Given the description of an element on the screen output the (x, y) to click on. 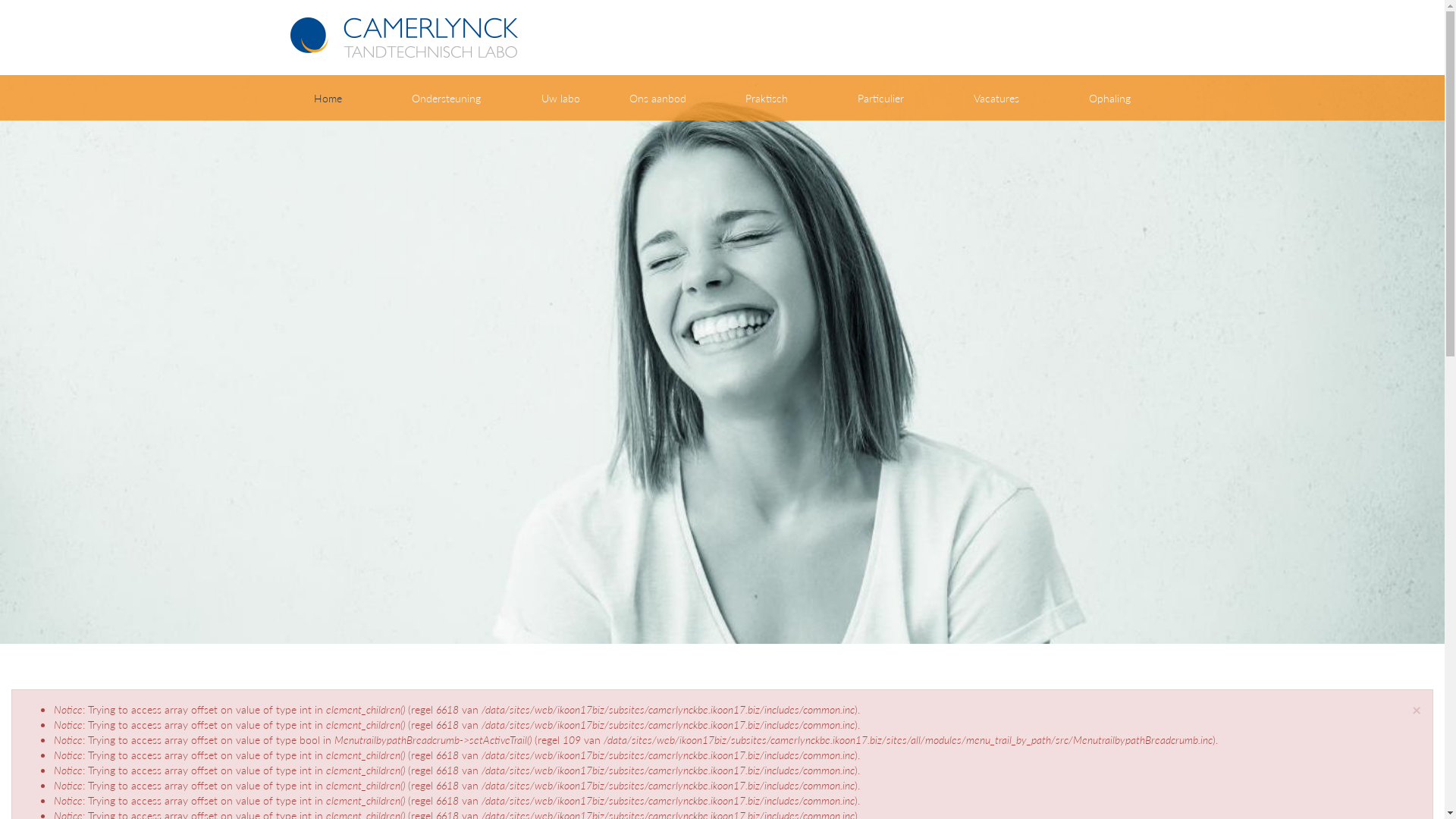
Overslaan en naar de inhoud gaan Element type: text (0, 0)
Particulier Element type: text (880, 93)
Praktisch Element type: text (765, 93)
Ons aanbod Element type: text (657, 93)
Vacatures Element type: text (996, 93)
Ondersteuning Element type: text (445, 93)
Home Element type: hover (408, 37)
Home Element type: text (327, 93)
Uw labo Element type: text (560, 93)
Ophaling Element type: text (1109, 93)
